Given the description of an element on the screen output the (x, y) to click on. 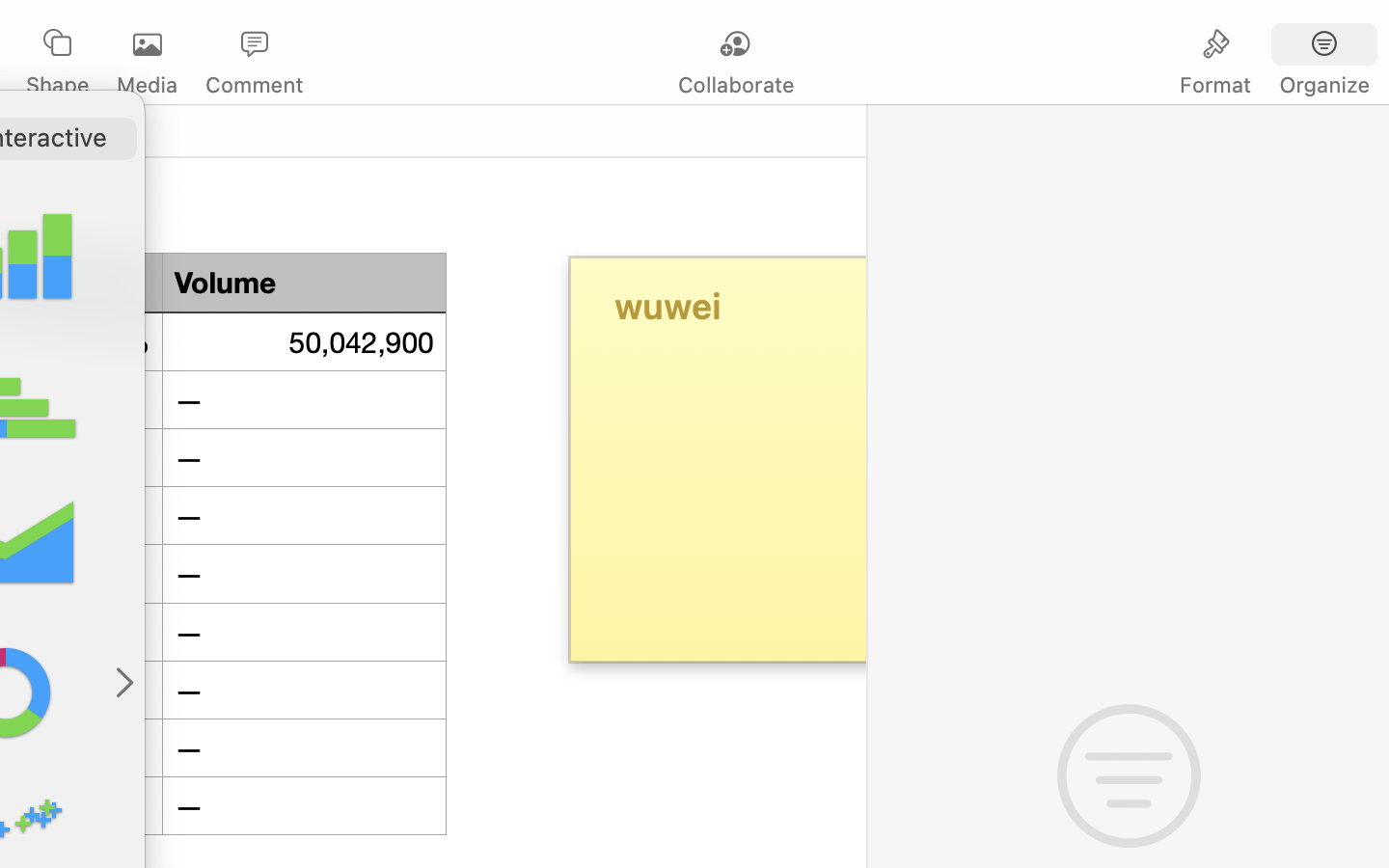
<AXUIElement 0x17f4d9eb0> {pid=1420} Element type: AXGroup (1270, 45)
Organize Element type: AXStaticText (1323, 84)
Media Element type: AXStaticText (146, 84)
